Given the description of an element on the screen output the (x, y) to click on. 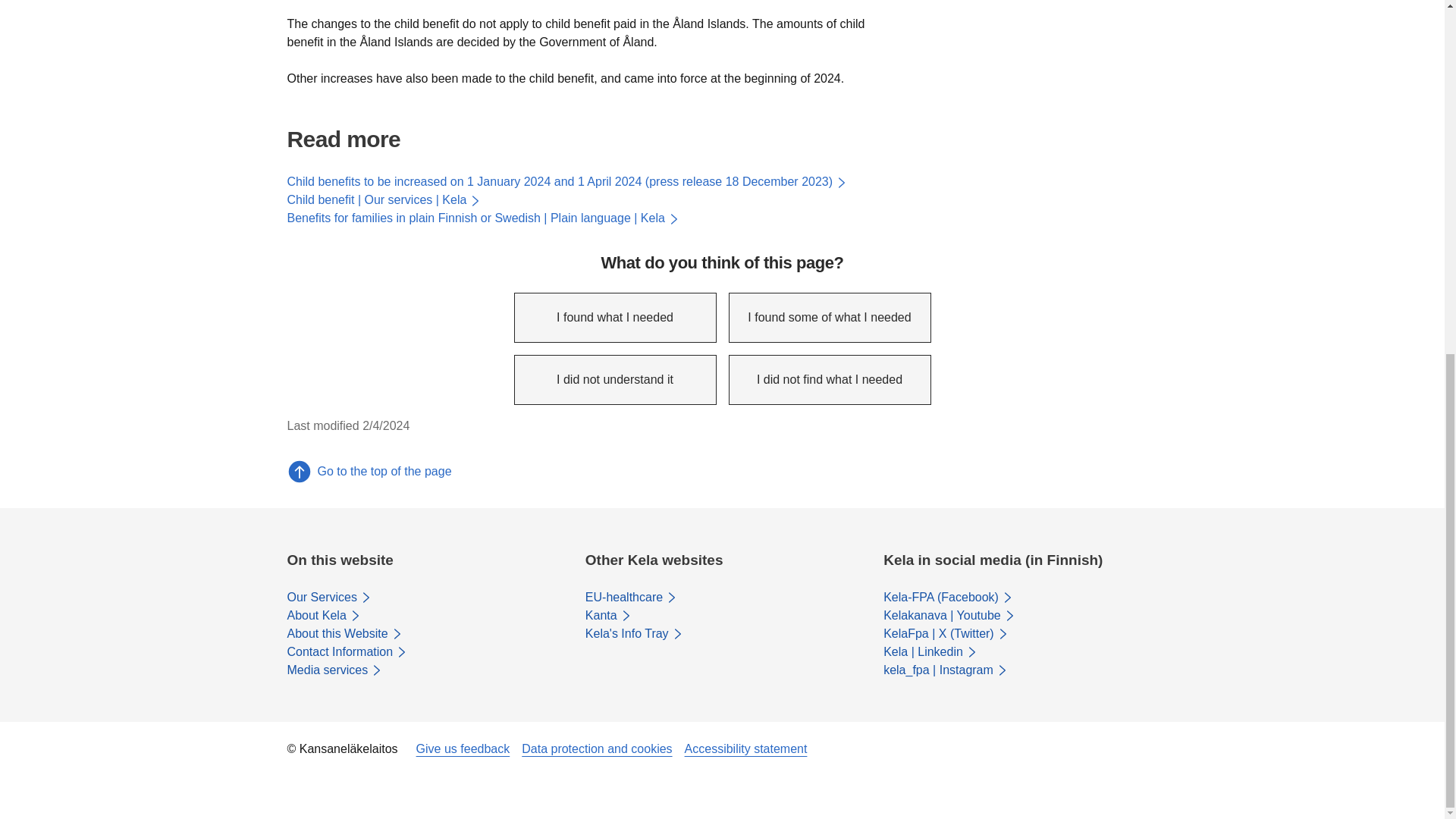
Go to the top of the page (721, 471)
I did not understand it (614, 379)
I found what I needed (614, 317)
I found some of what I needed (829, 317)
I did not find what I needed (829, 379)
